Given the description of an element on the screen output the (x, y) to click on. 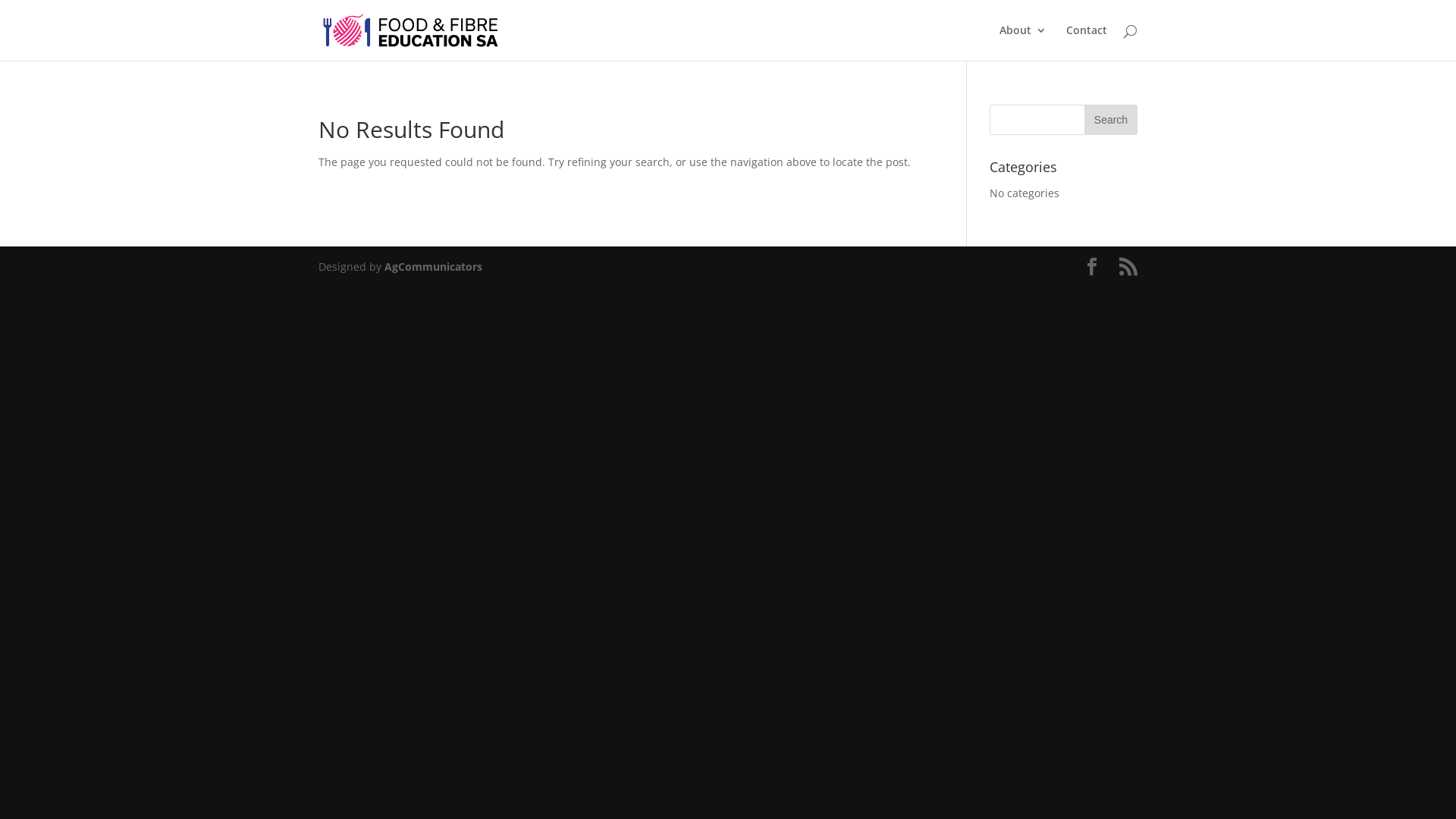
Contact Element type: text (1086, 42)
AgCommunicators Element type: text (433, 266)
About Element type: text (1022, 42)
Search Element type: text (1110, 119)
